Given the description of an element on the screen output the (x, y) to click on. 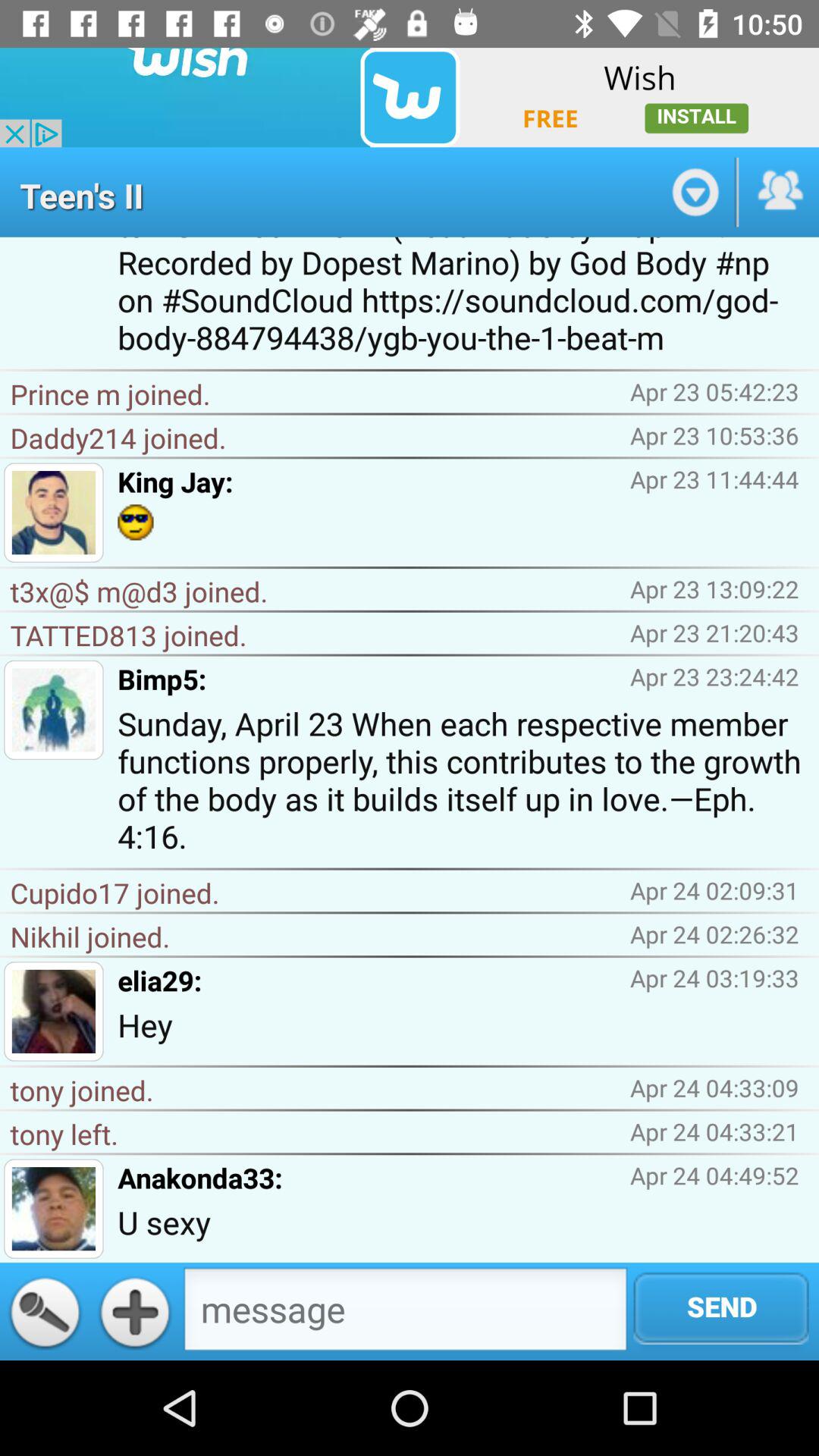
type message (405, 1313)
